Given the description of an element on the screen output the (x, y) to click on. 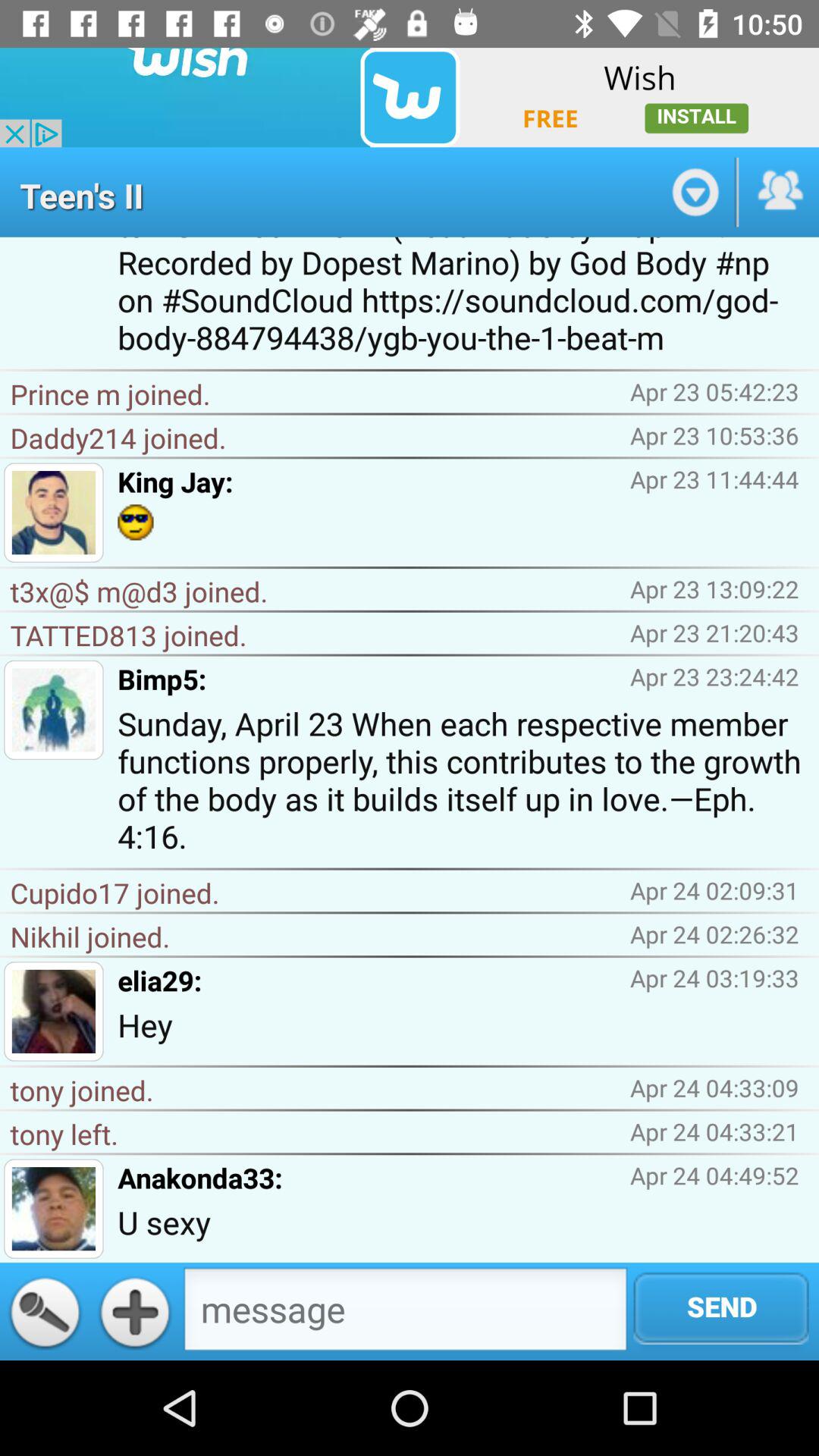
type message (405, 1313)
